Given the description of an element on the screen output the (x, y) to click on. 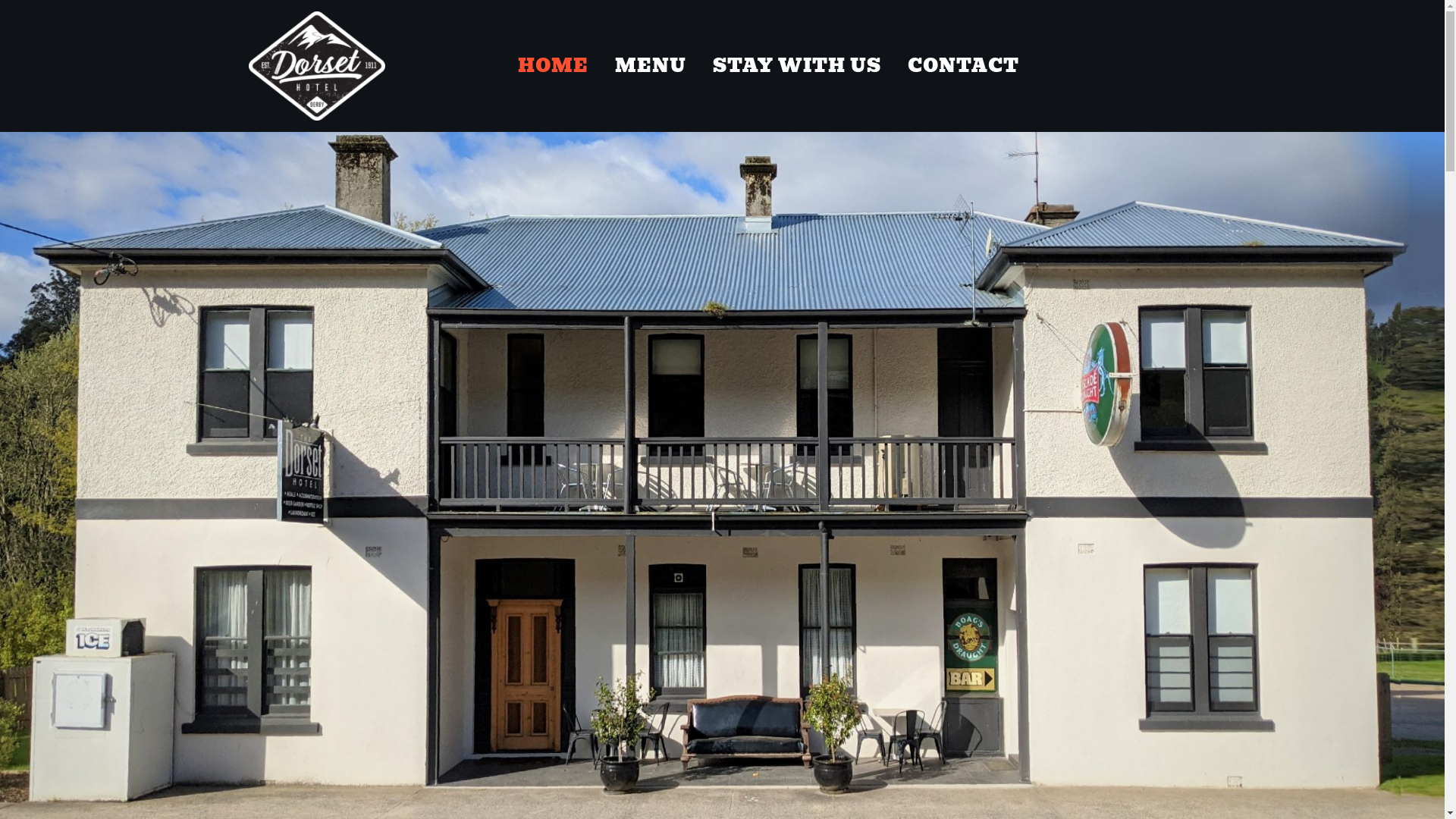
HOME Element type: text (552, 65)
STAY WITH US Element type: text (796, 65)
CONTACT Element type: text (963, 65)
MENU Element type: text (650, 65)
